Given the description of an element on the screen output the (x, y) to click on. 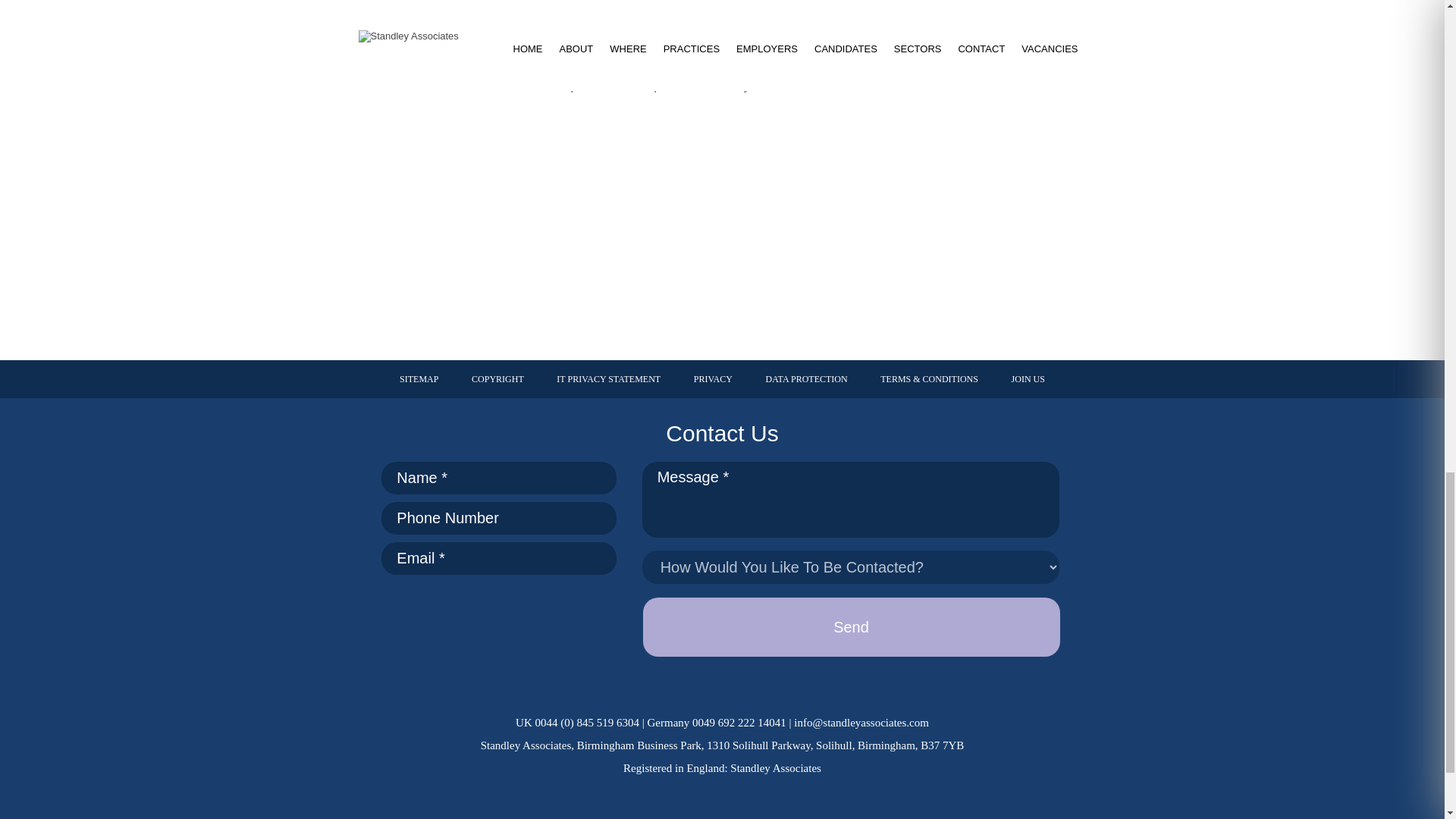
IT Privacy Statement (608, 379)
Sitemap (418, 379)
Copyright (497, 379)
Send (851, 626)
Data Protection  (807, 379)
Join Us (1027, 379)
Privacy  (713, 379)
